Given the description of an element on the screen output the (x, y) to click on. 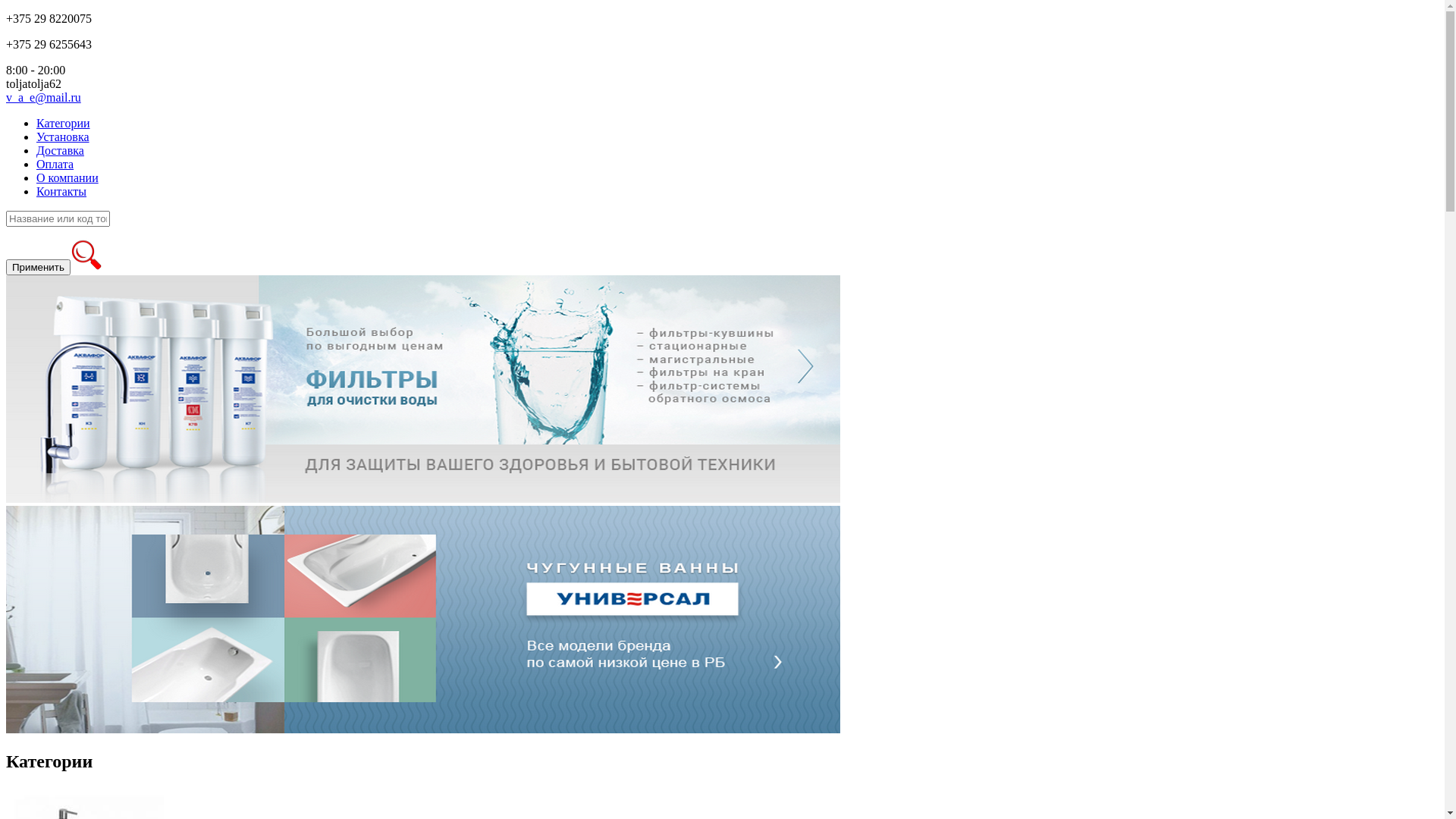
v_a_e@mail.ru Element type: text (43, 97)
